Given the description of an element on the screen output the (x, y) to click on. 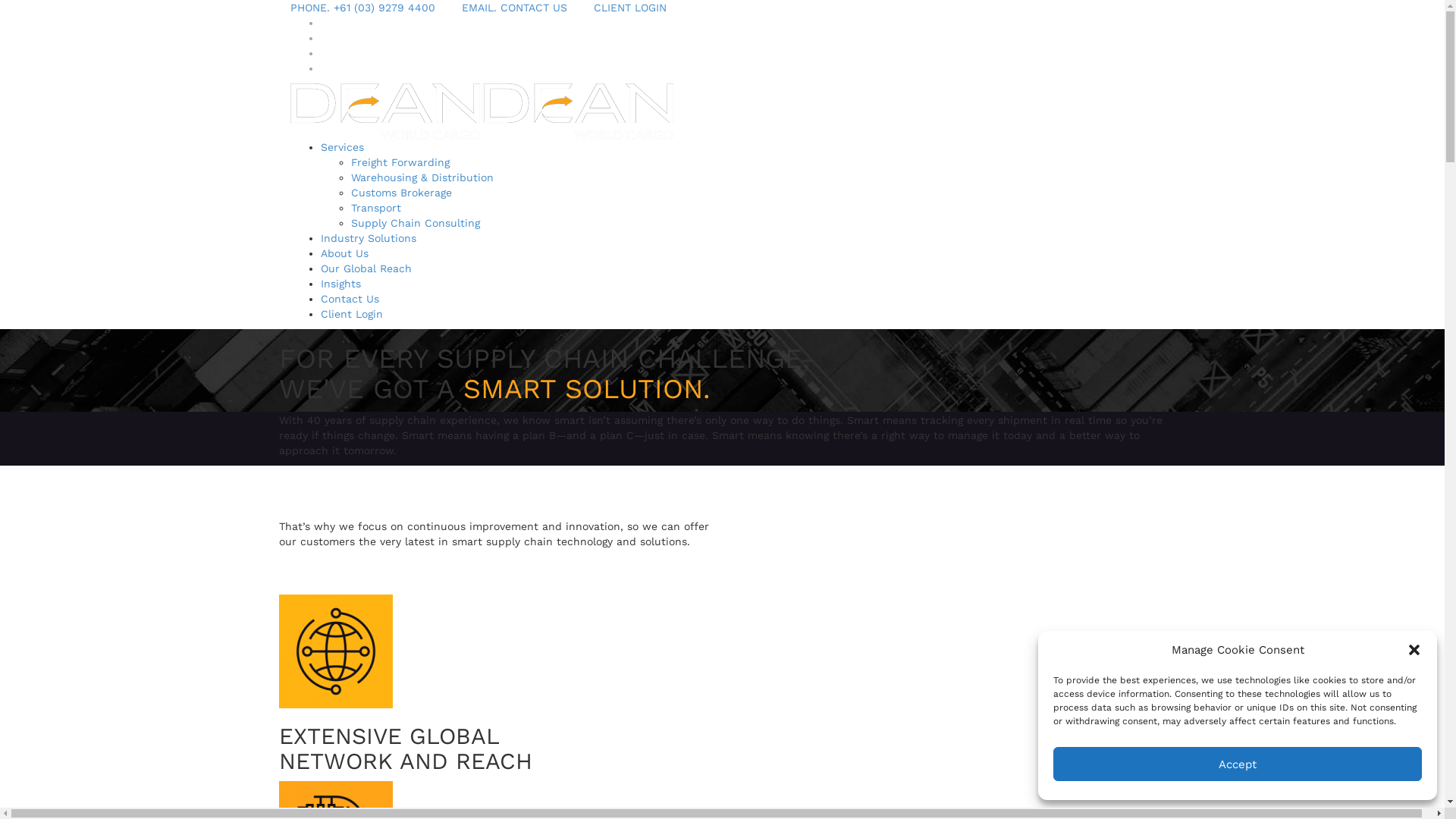
Client Login Element type: text (351, 313)
Insights Element type: text (340, 283)
Services Element type: text (341, 147)
Supply Chain Consulting Element type: text (414, 222)
CLIENT LOGIN Element type: text (629, 7)
Home FA-1 Element type: hover (335, 651)
PHONE. +61 (03) 9279 4400 Element type: text (361, 7)
Contact Us Element type: text (349, 298)
Transport Element type: text (375, 207)
Customs Brokerage Element type: text (400, 192)
Warehousing & Distribution Element type: text (421, 177)
Industry Solutions Element type: text (367, 238)
EMAIL. CONTACT US Element type: text (513, 7)
About Us Element type: text (343, 253)
Freight Forwarding Element type: text (399, 162)
Accept Element type: text (1237, 763)
Our Global Reach Element type: text (365, 268)
